Given the description of an element on the screen output the (x, y) to click on. 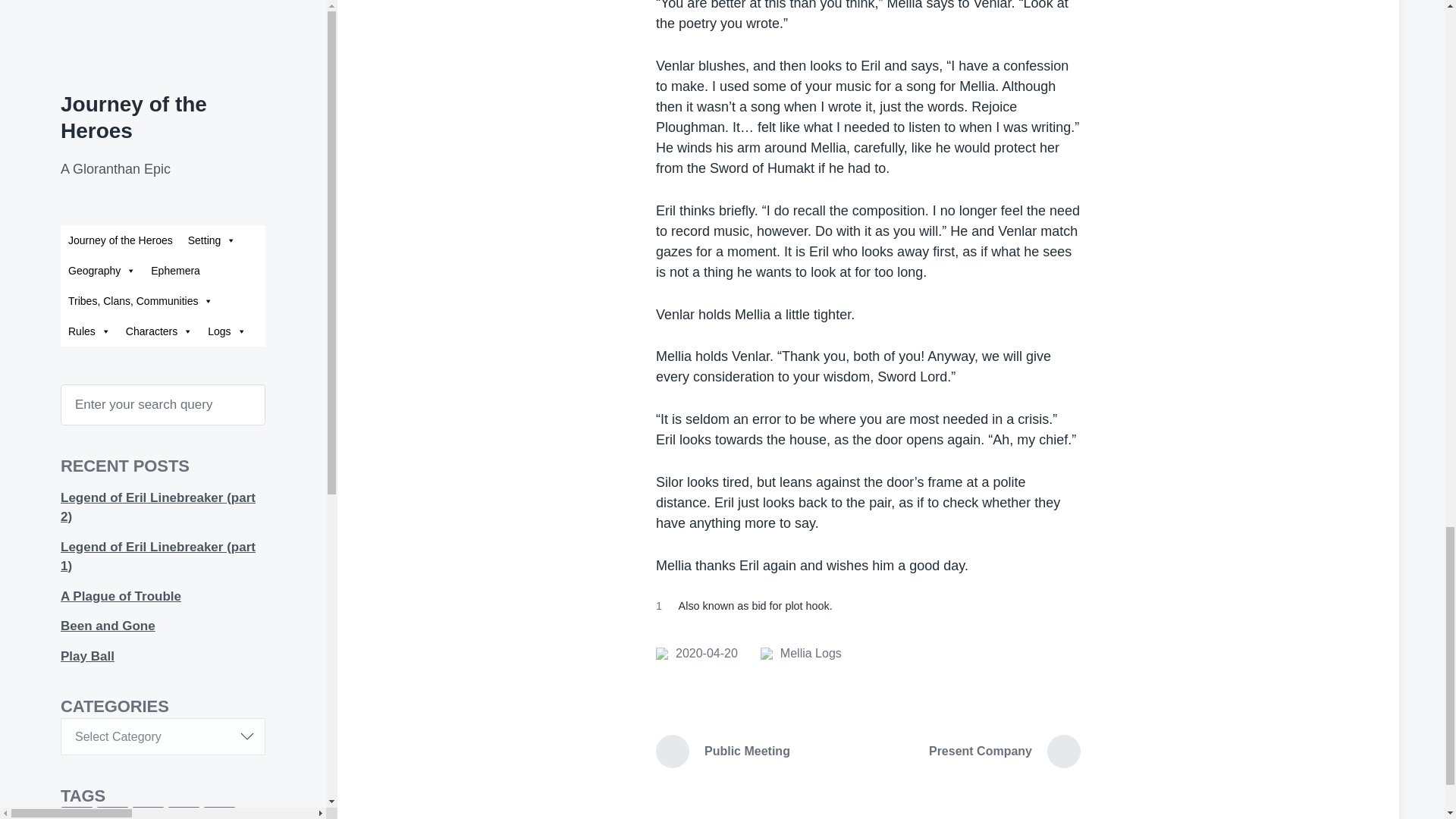
Private Meeting (697, 653)
